Given the description of an element on the screen output the (x, y) to click on. 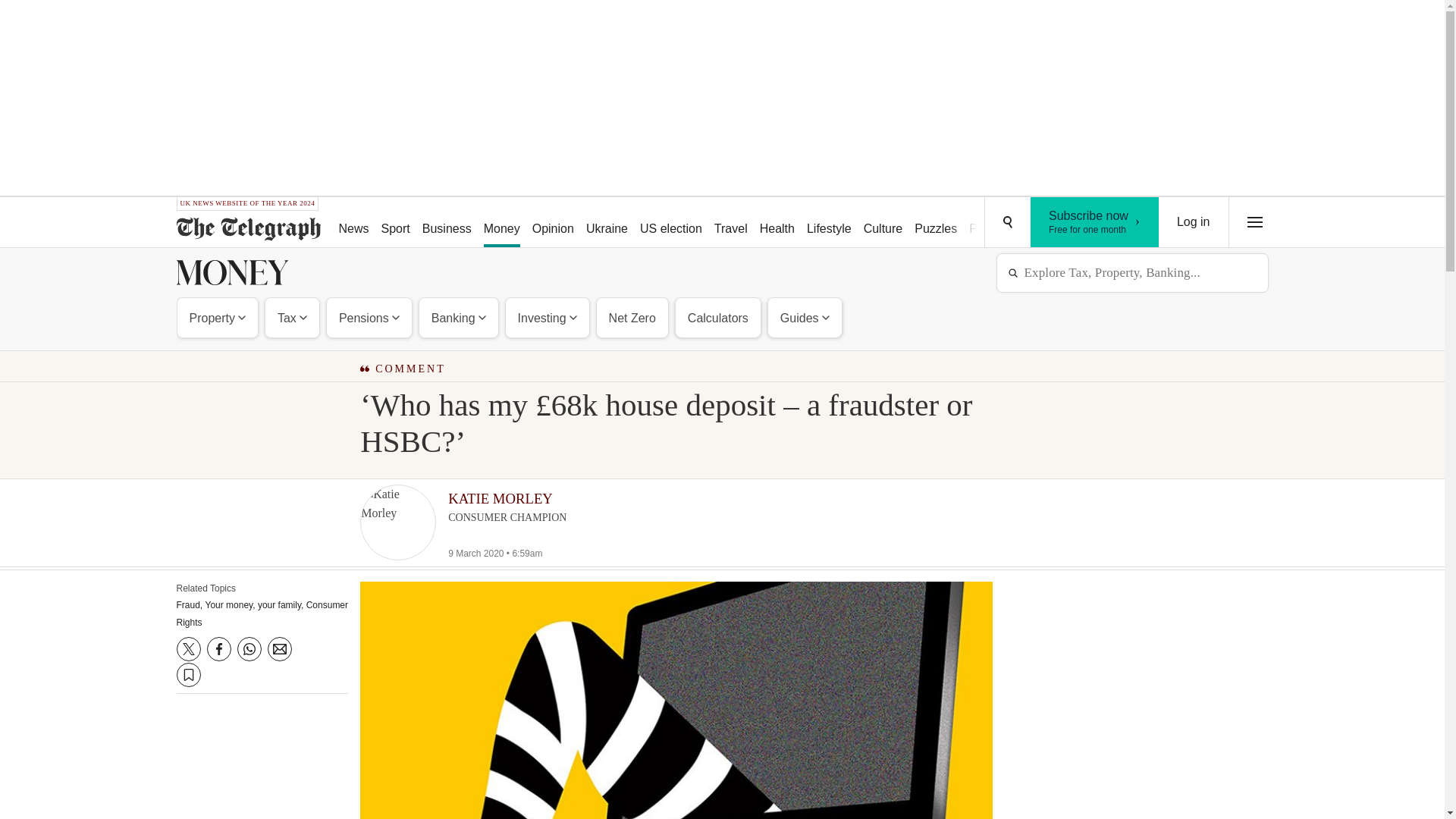
Log in (1193, 222)
US election (670, 223)
Culture (882, 223)
Podcasts (993, 223)
Ukraine (606, 223)
Banking (458, 317)
Health (777, 223)
Travel (730, 223)
Pensions (369, 317)
